Given the description of an element on the screen output the (x, y) to click on. 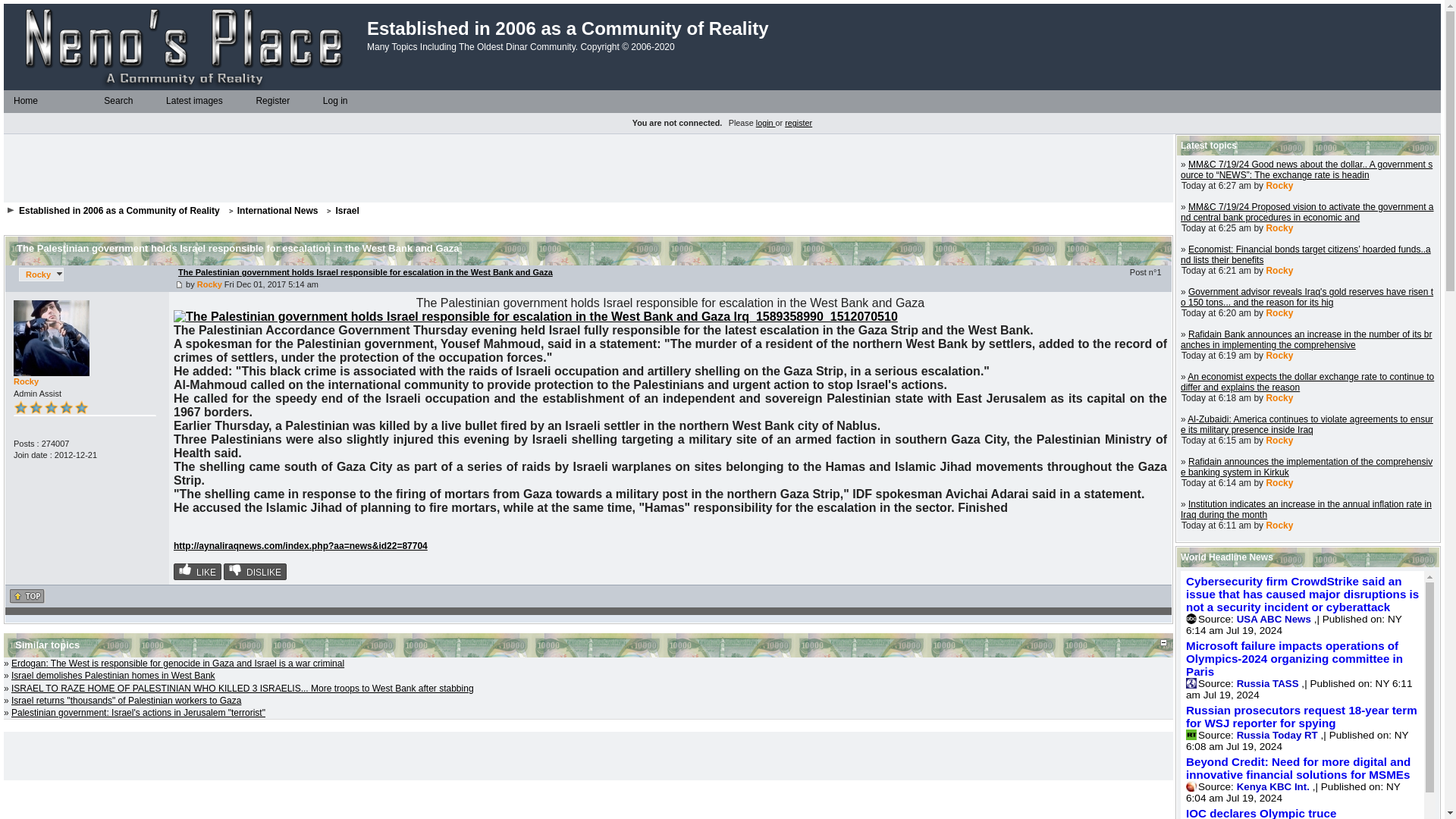
Search (98, 101)
Israel (346, 210)
Rocky (41, 274)
Israel returns "thousands" of Palestinian workers to Gaza (126, 700)
Post (178, 284)
Israel returns  (126, 700)
Home (25, 101)
Home (8, 101)
login (765, 122)
Admin Assist (50, 406)
